Given the description of an element on the screen output the (x, y) to click on. 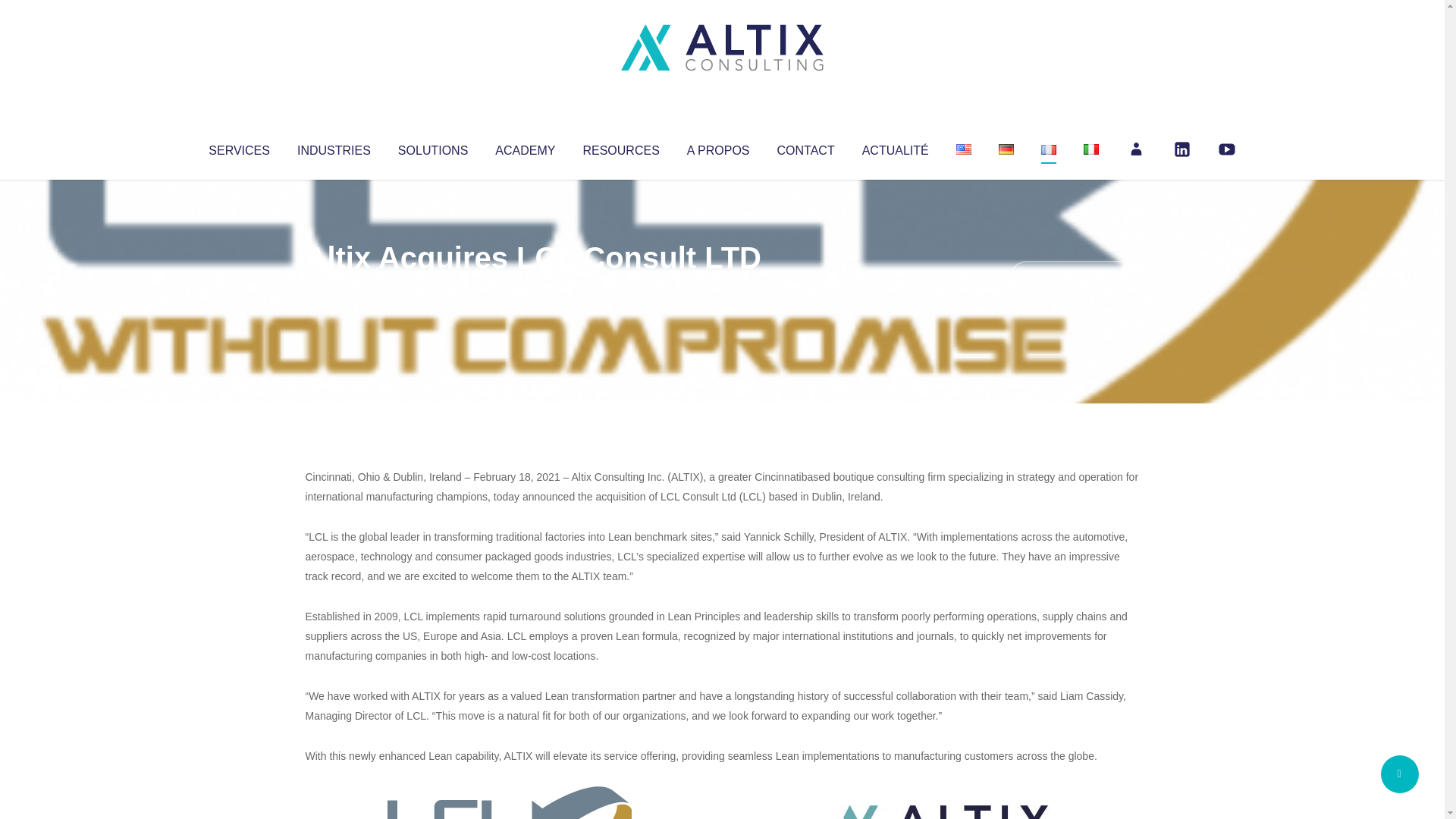
RESOURCES (620, 146)
No Comments (1073, 278)
A PROPOS (718, 146)
Articles par Altix (333, 287)
SOLUTIONS (432, 146)
Uncategorized (530, 287)
ACADEMY (524, 146)
INDUSTRIES (334, 146)
SERVICES (238, 146)
Altix (333, 287)
